Given the description of an element on the screen output the (x, y) to click on. 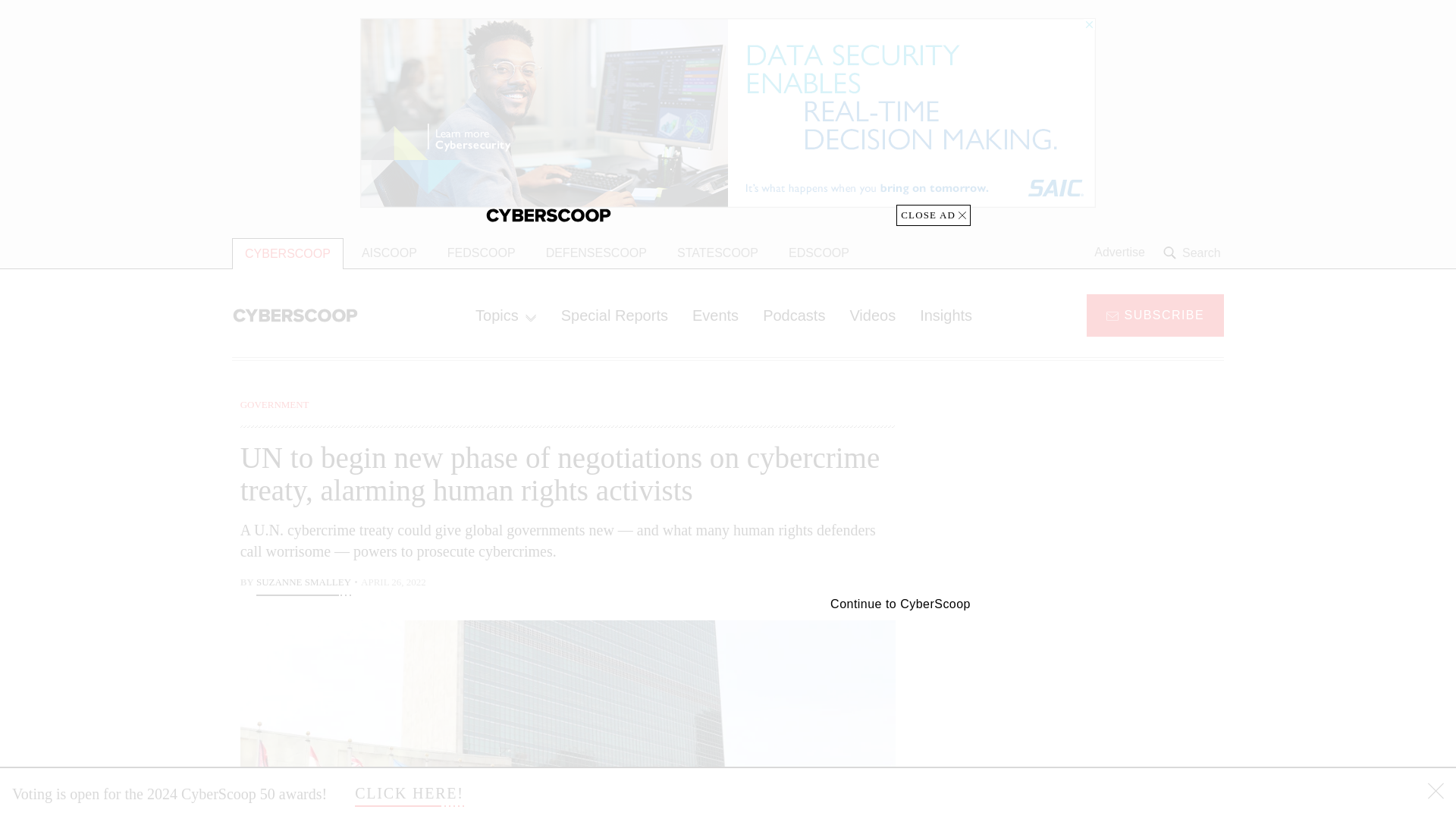
STATESCOOP (717, 253)
Special Reports (613, 315)
Search (1193, 252)
DEFENSESCOOP (596, 253)
Events (715, 315)
FEDSCOOP (481, 253)
3rd party ad content (1101, 705)
SUBSCRIBE (1155, 314)
Topics (505, 315)
